Given the description of an element on the screen output the (x, y) to click on. 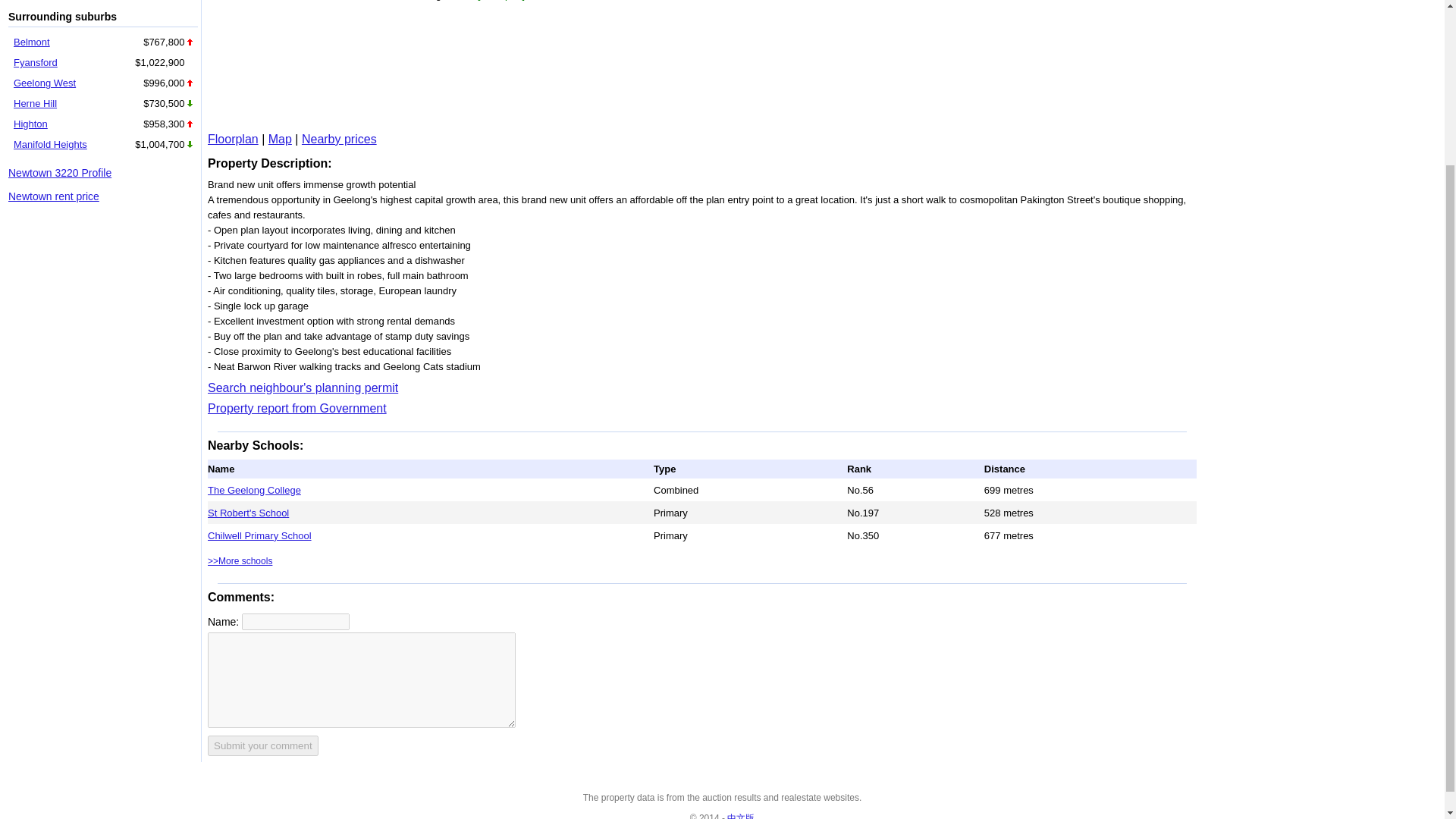
Submit your comment (263, 745)
Newtown 3220 Profile (60, 173)
Newtown rent price (53, 196)
Nearby prices (339, 138)
The Geelong College (254, 489)
Fyansford (35, 61)
Search nearby house sold prices (339, 138)
Advertisement (433, 65)
Highton (30, 123)
Manifold Heights (50, 143)
Map (279, 138)
St Robert's School (248, 511)
Belmont (31, 41)
Geelong West (44, 82)
Herne Hill (34, 102)
